Given the description of an element on the screen output the (x, y) to click on. 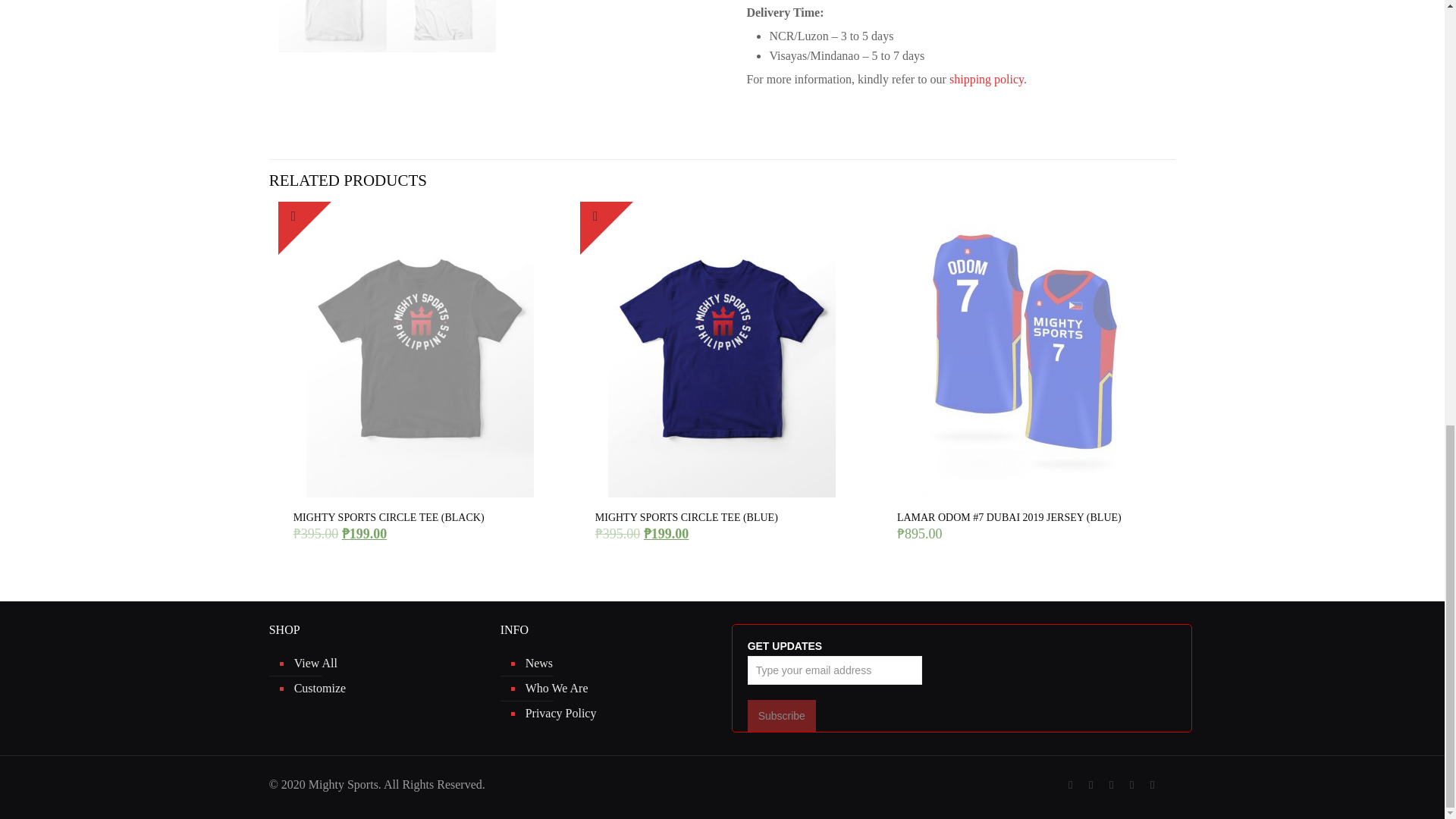
Twitter (1091, 784)
Facebook (1070, 784)
YouTube (1111, 784)
Subscribe (781, 716)
Instagram (1152, 784)
LinkedIn (1132, 784)
